Given the description of an element on the screen output the (x, y) to click on. 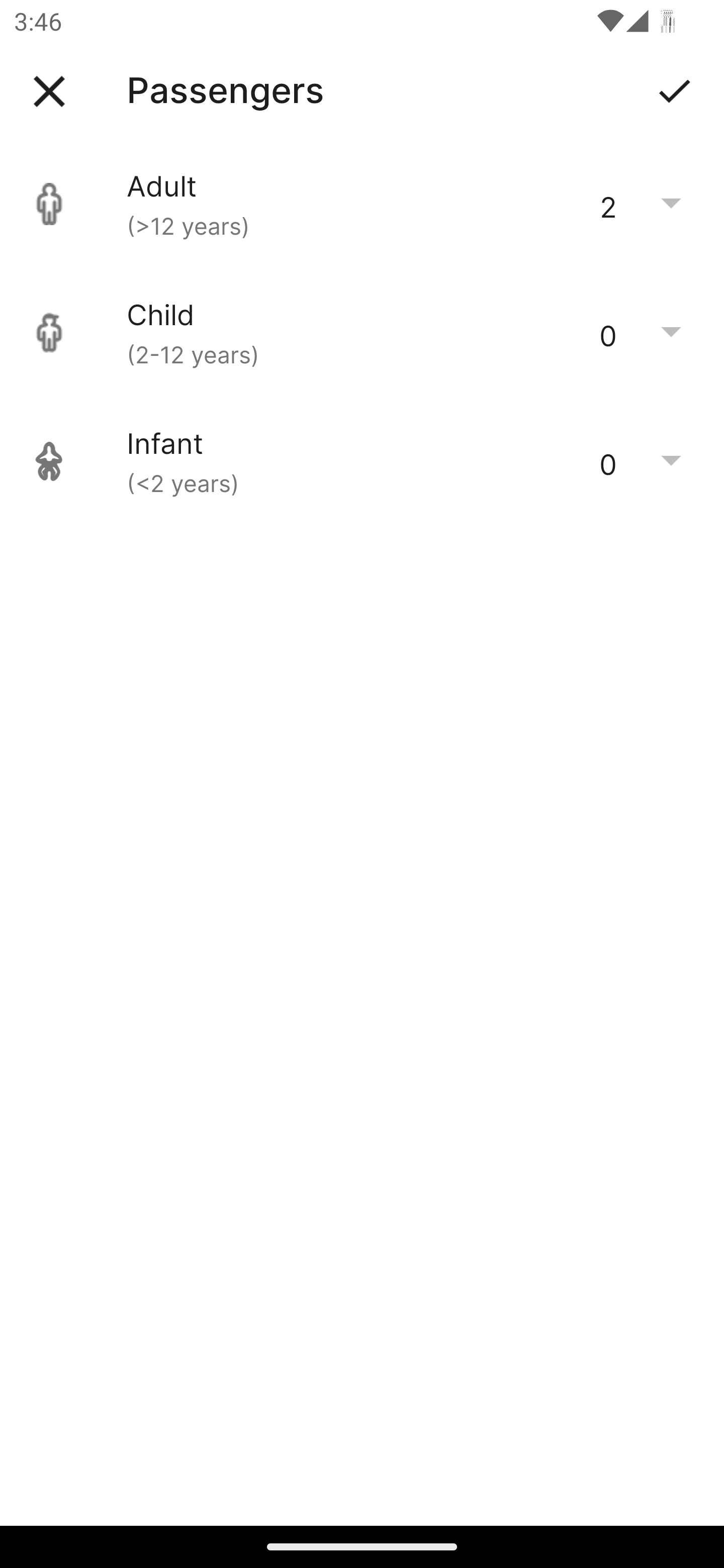
Adult (>12 years) 2 (362, 204)
Child (2-12 years) 0 (362, 332)
Infant (<2 years) 0 (362, 461)
